Given the description of an element on the screen output the (x, y) to click on. 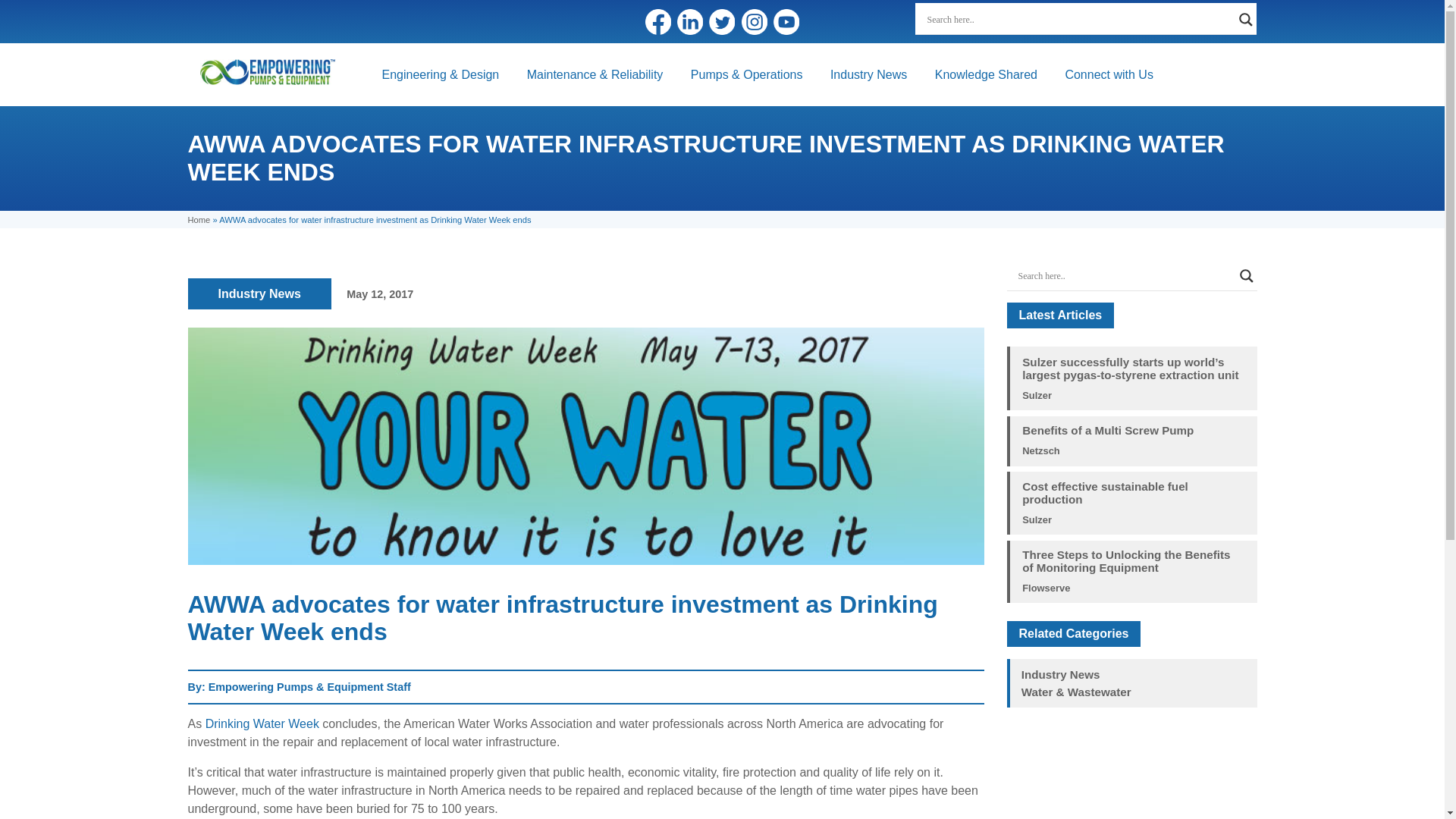
Empowering Pumps on Instagram (754, 22)
Industry News (259, 293)
Instagram (754, 22)
Facebook (658, 22)
Empowering Pumps on LinkedIn (690, 22)
Twitter (722, 22)
Empowering Pumps (267, 71)
Empowering Pumps on Twitter (722, 22)
YouTube (786, 22)
LinkedIn (690, 22)
